Given the description of an element on the screen output the (x, y) to click on. 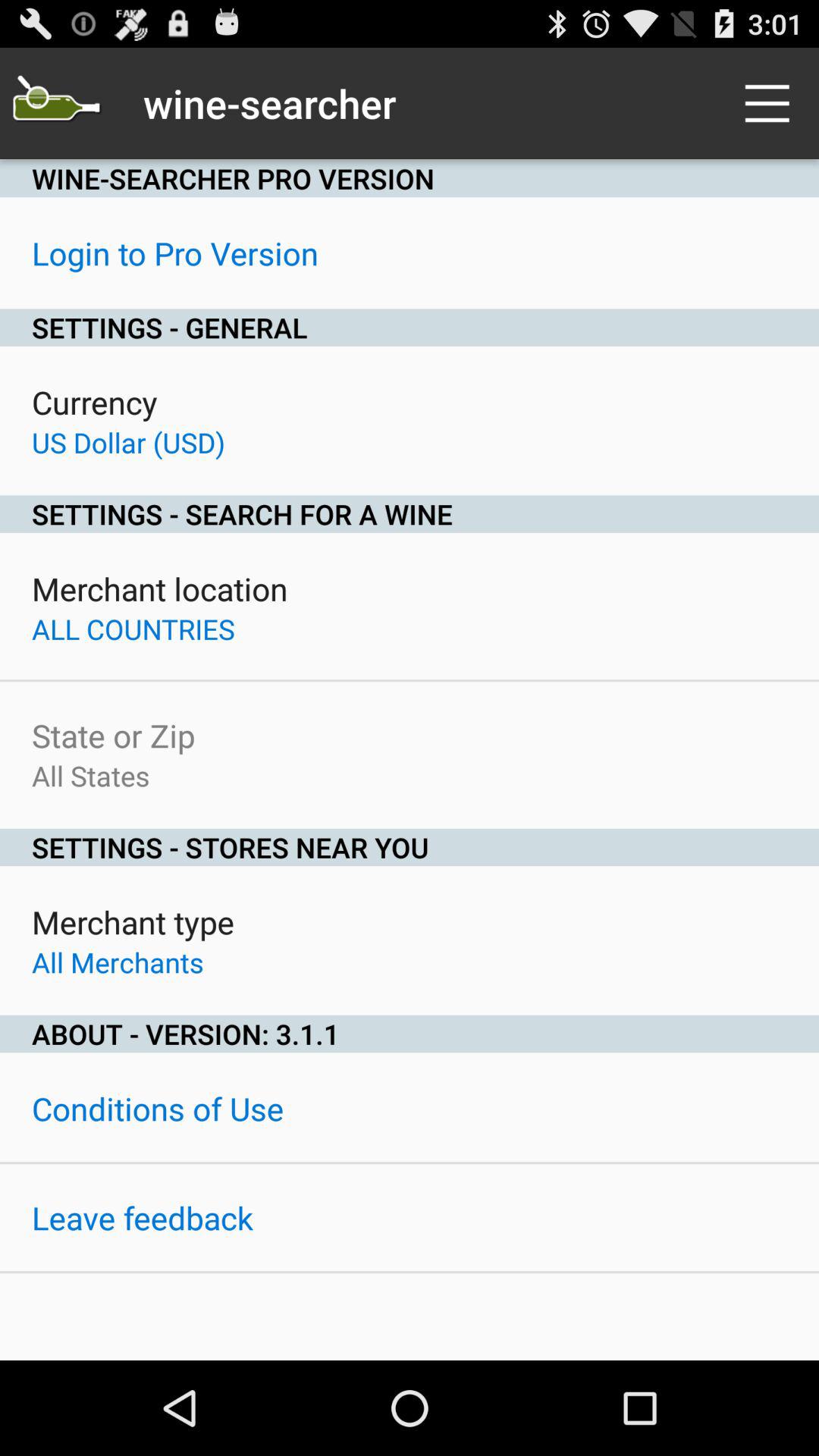
wine thebattie (55, 103)
